Given the description of an element on the screen output the (x, y) to click on. 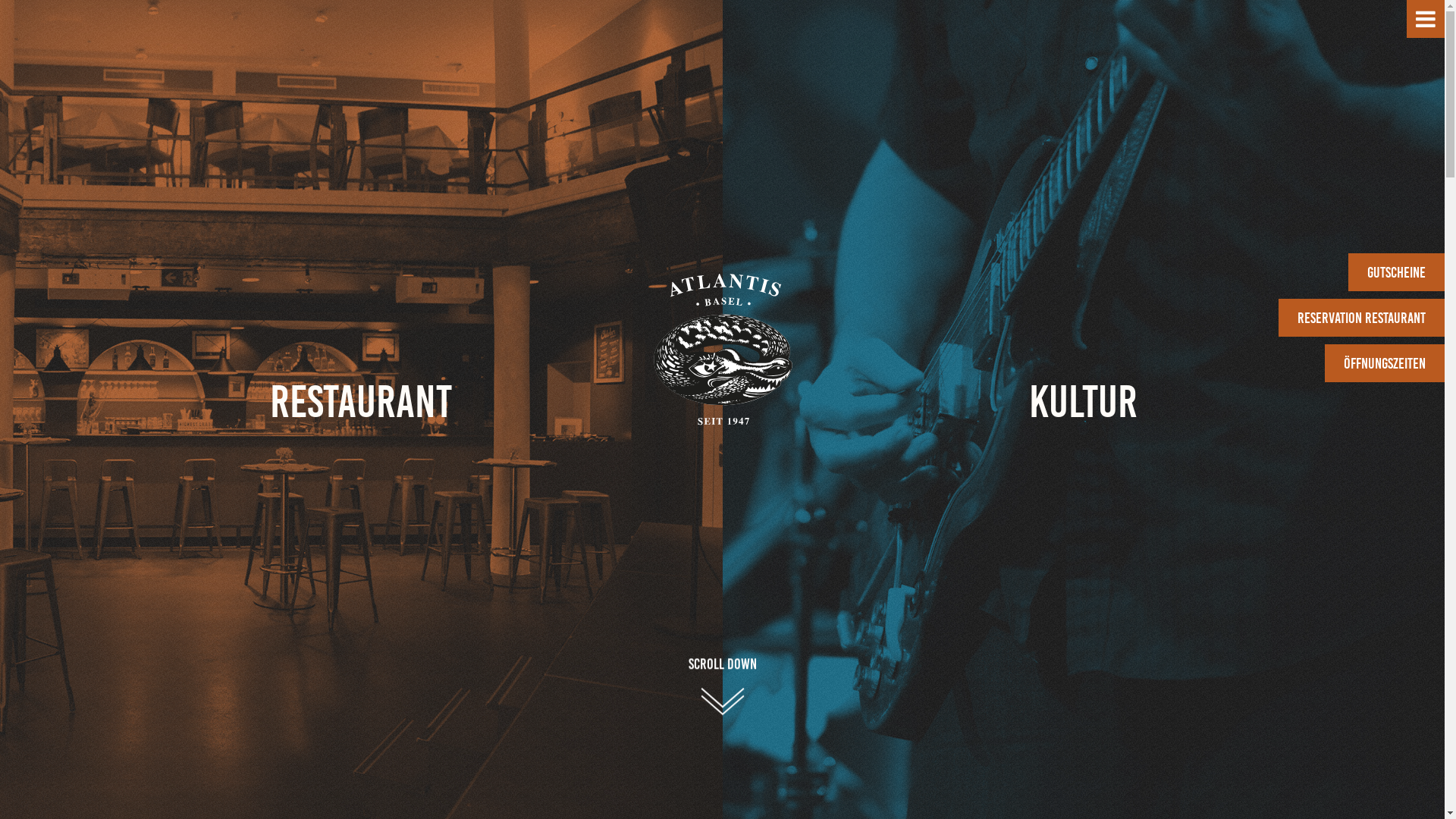
Reservation Restaurant Element type: text (1361, 317)
Scroll down Element type: text (721, 661)
Gutscheine Element type: text (1396, 272)
